Given the description of an element on the screen output the (x, y) to click on. 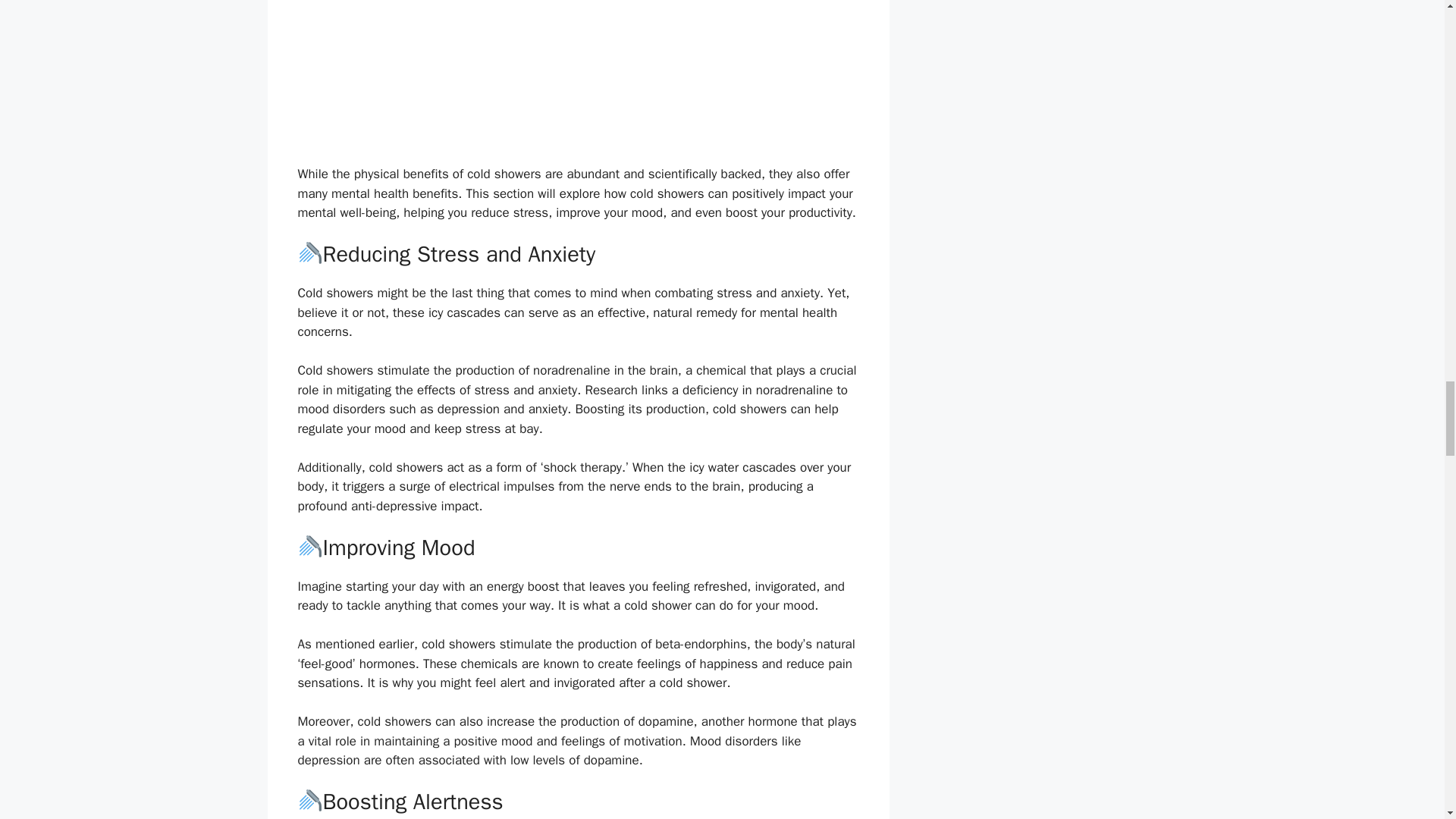
Benefits of Cold Showers - Comfort Zone Killer (578, 72)
